Given the description of an element on the screen output the (x, y) to click on. 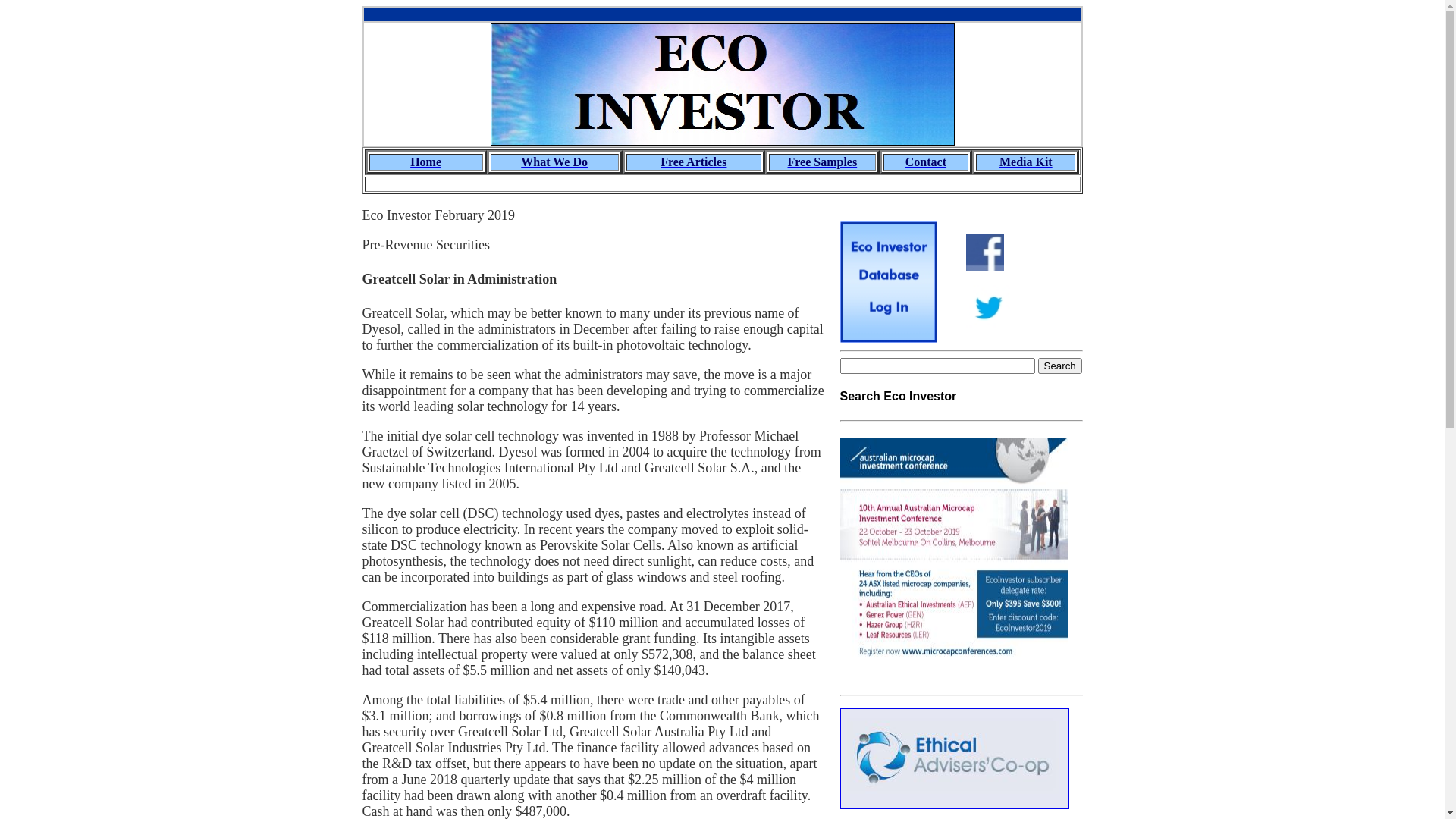
Free Articles Element type: text (693, 161)
Media Kit Element type: text (1025, 161)
What We Do Element type: text (553, 161)
Free Samples Element type: text (821, 161)
Home Element type: text (425, 161)
Contact Element type: text (925, 161)
Search Element type: text (1059, 365)
